Given the description of an element on the screen output the (x, y) to click on. 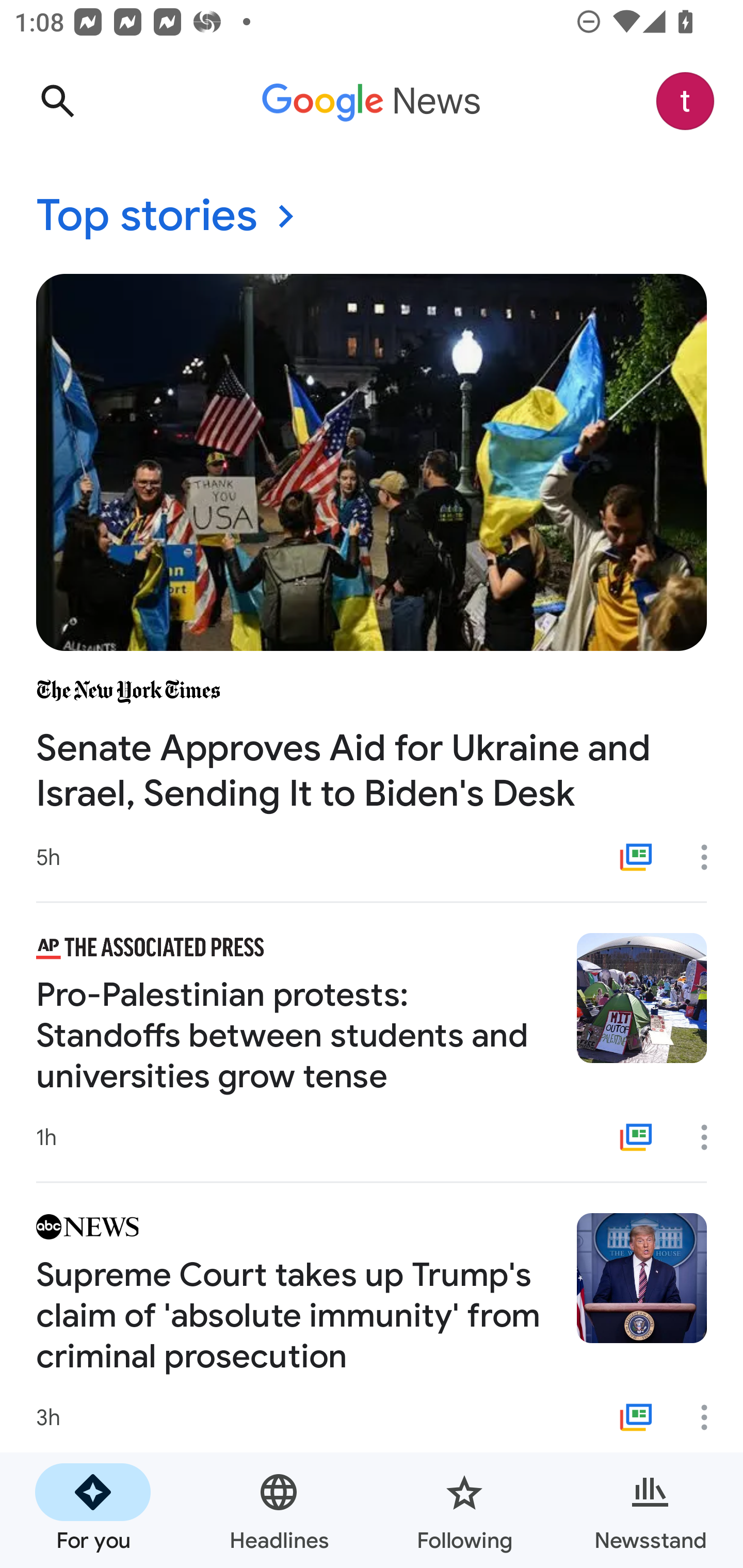
Search (57, 100)
Top stories (371, 216)
More options (711, 856)
More options (711, 1137)
More options (711, 1417)
For you (92, 1509)
Headlines (278, 1509)
Following (464, 1509)
Newsstand (650, 1509)
